Given the description of an element on the screen output the (x, y) to click on. 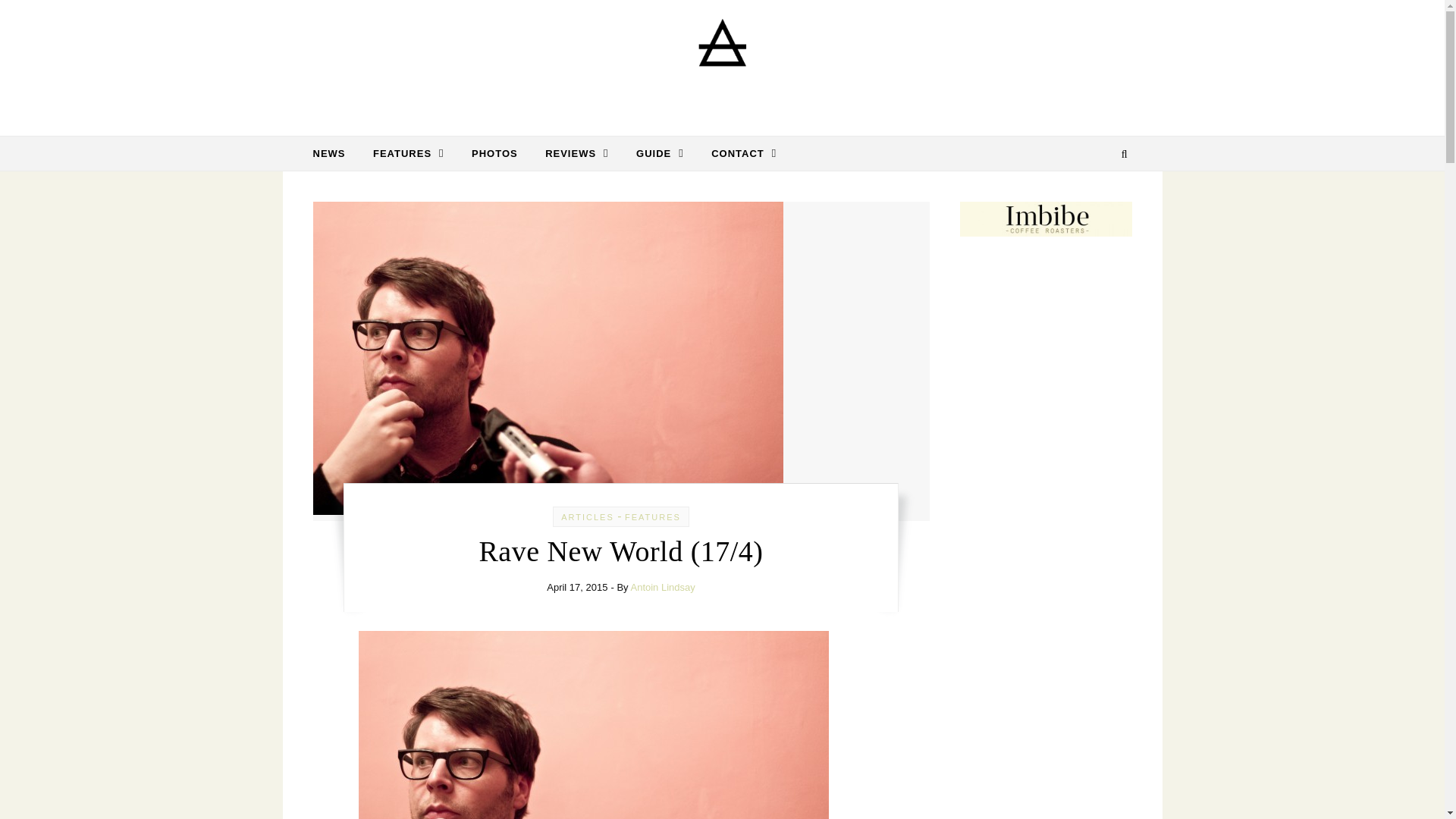
FEATURES (409, 153)
GUIDE (659, 153)
REVIEWS (576, 153)
PHOTOS (494, 153)
NEWS (334, 153)
Posts by Antoin Lindsay (662, 586)
The Thin Air (722, 62)
CONTACT (737, 153)
